Given the description of an element on the screen output the (x, y) to click on. 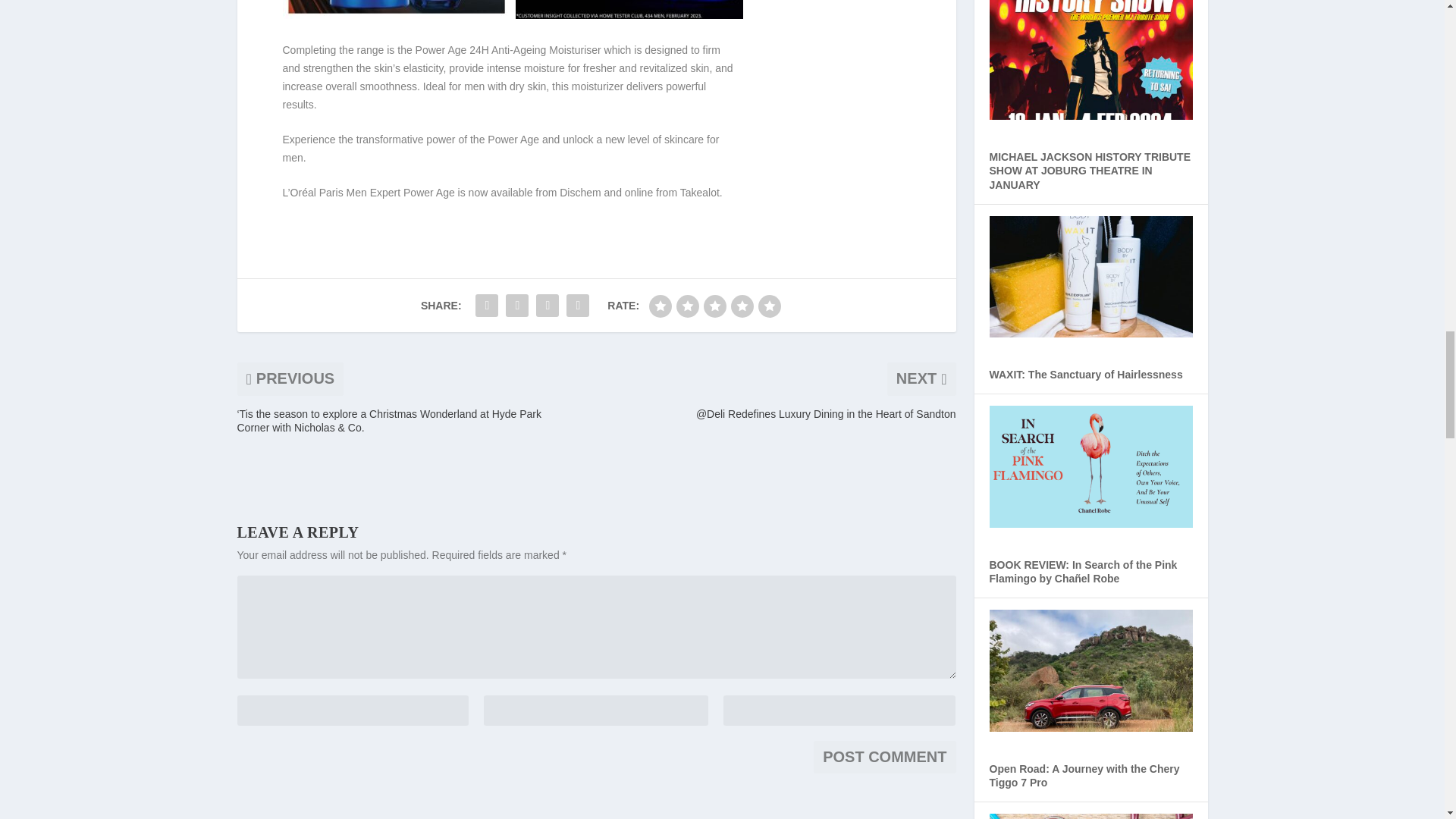
gorgeous (769, 305)
good (742, 305)
bad (660, 305)
regular (714, 305)
Post Comment (884, 757)
poor (687, 305)
